Given the description of an element on the screen output the (x, y) to click on. 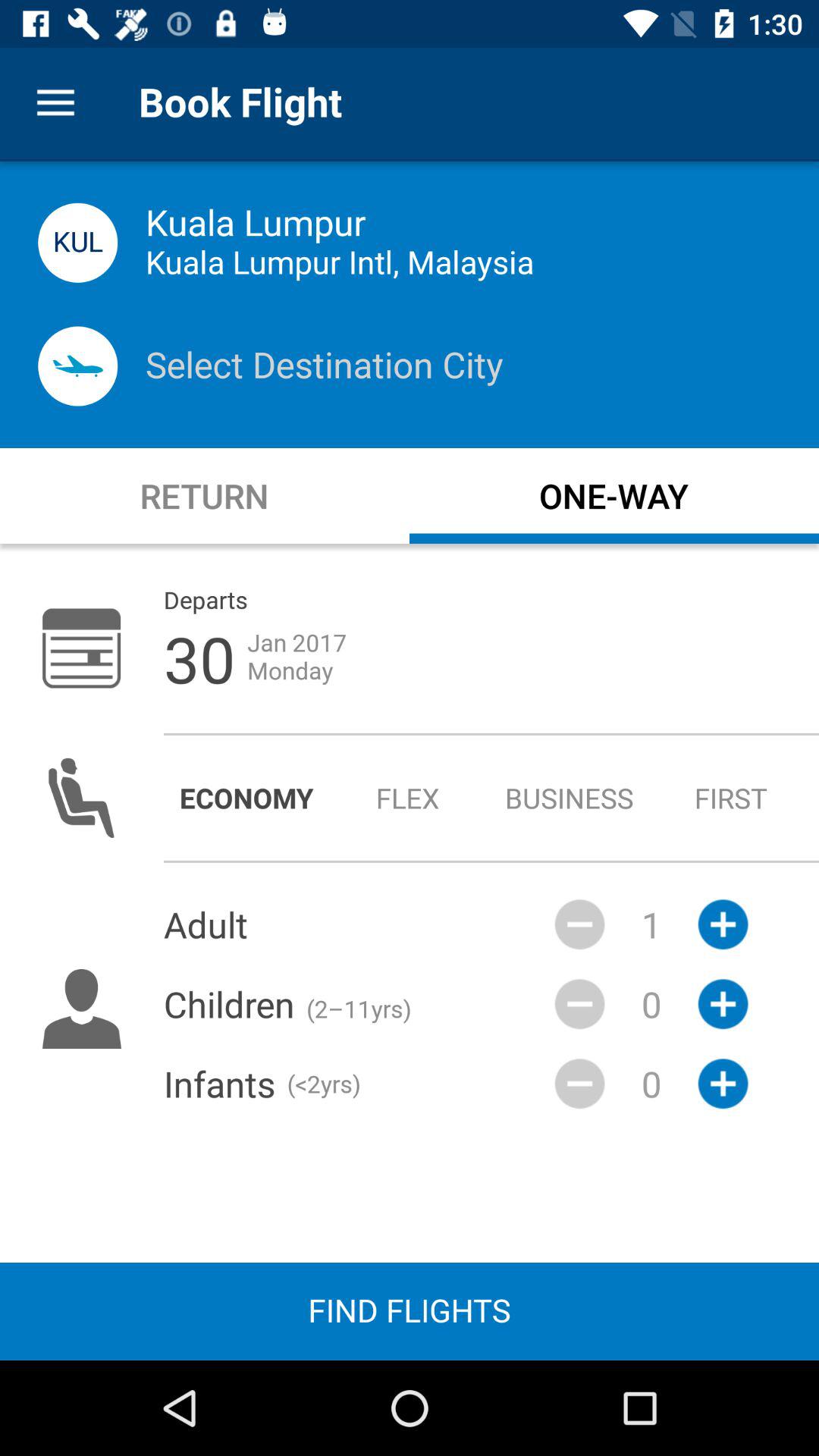
launch item to the left of flex radio button (246, 797)
